Given the description of an element on the screen output the (x, y) to click on. 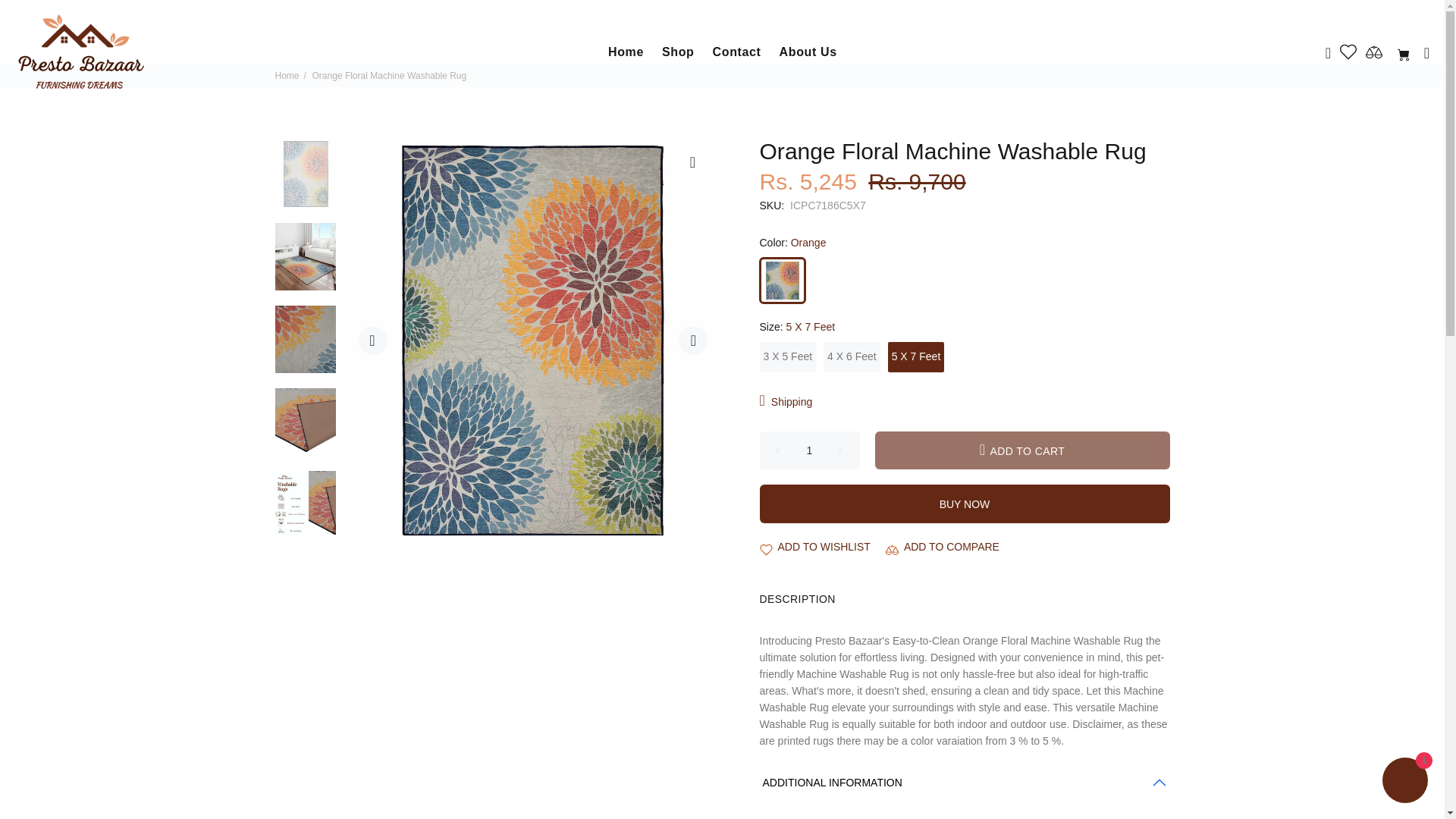
Contact (736, 52)
Shop (677, 52)
Shopify online store chat (1404, 781)
Home (625, 52)
About Us (803, 52)
1 (810, 450)
